Given the description of an element on the screen output the (x, y) to click on. 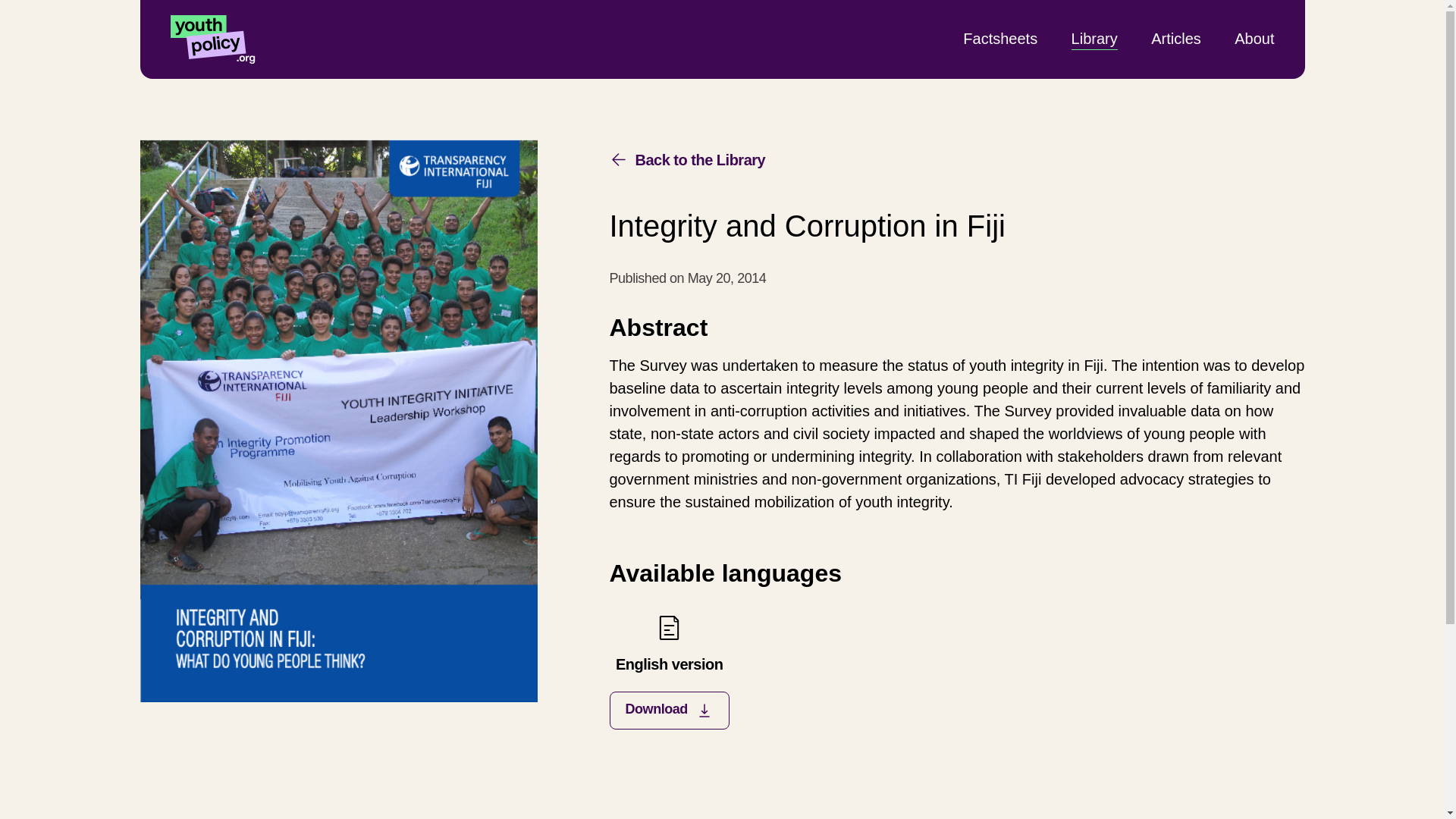
About (1254, 38)
Factsheets (999, 38)
Library (1094, 38)
Back to the Library (687, 159)
Articles (669, 670)
